Given the description of an element on the screen output the (x, y) to click on. 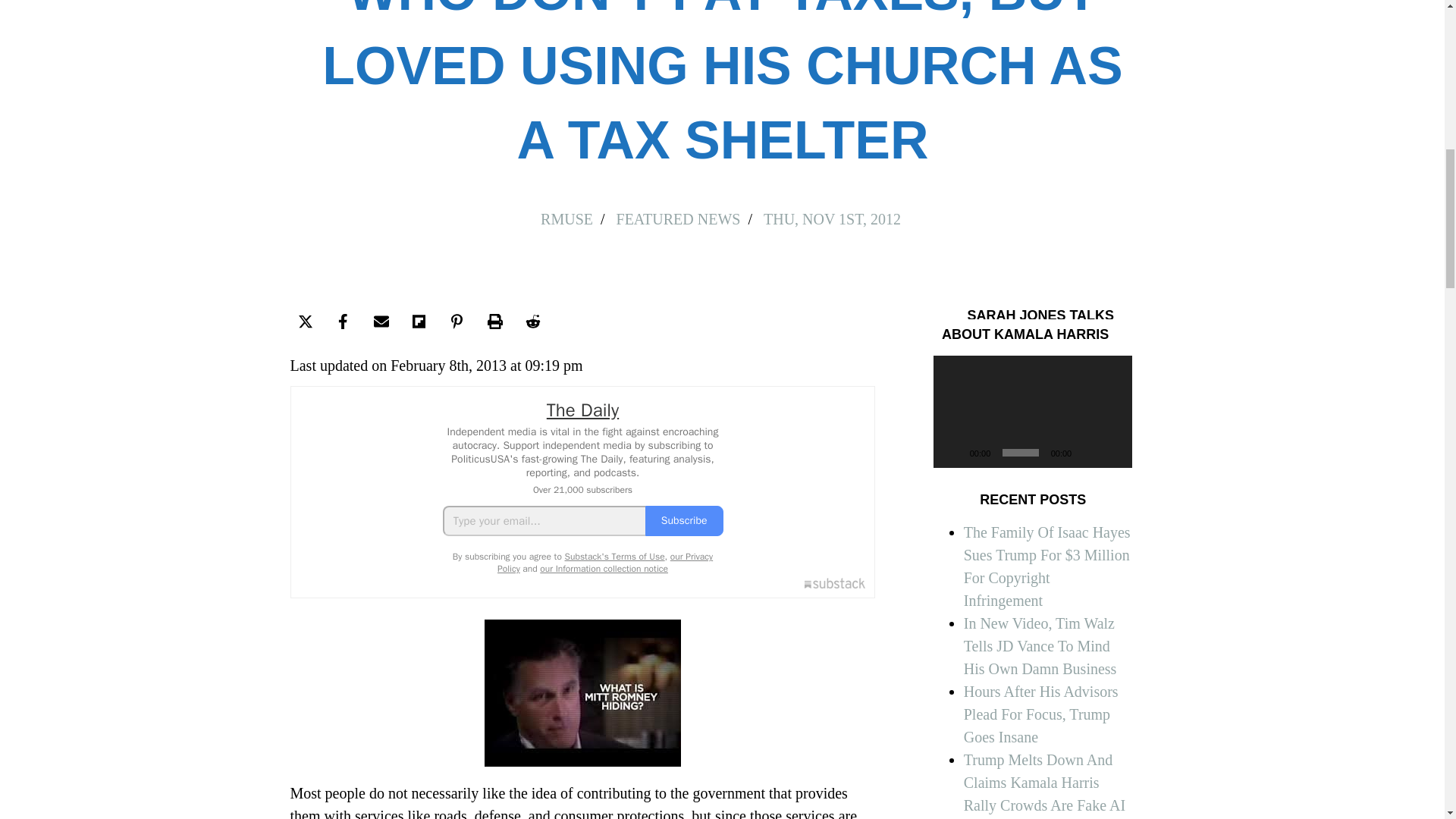
RMUSE (585, 203)
romney Hiding (582, 692)
Posts by Rmuse (566, 218)
THU, NOV 1ST, 2012 (829, 211)
FEATURED NEWS (687, 206)
